Given the description of an element on the screen output the (x, y) to click on. 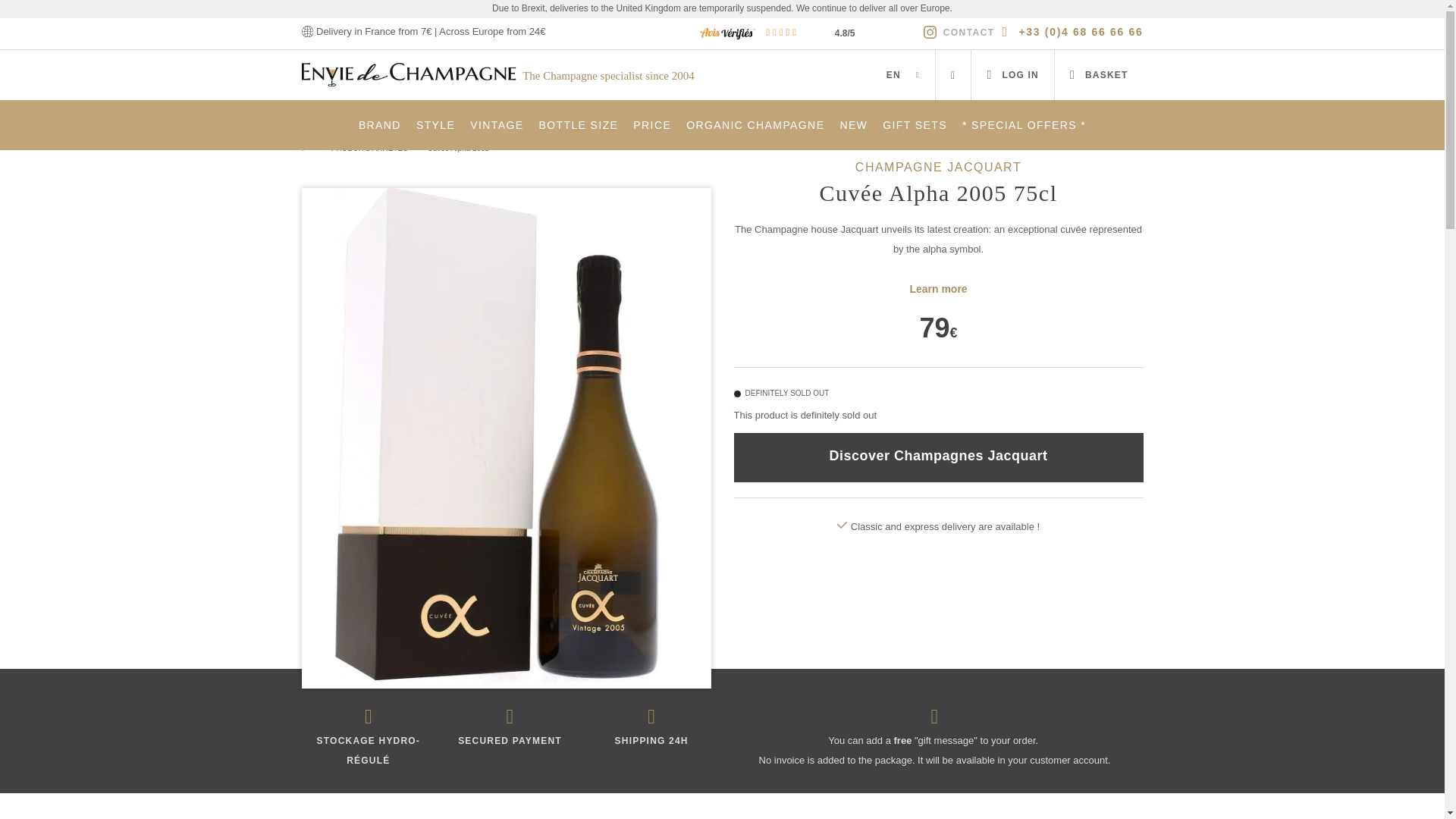
BASKET (1098, 74)
Brand (379, 124)
Envie de Champagne, Buy Champagne online at the best price! (410, 73)
CONTACT (968, 32)
BRAND (379, 124)
Follow us on Instagram (929, 31)
My account (1012, 74)
View my shopping cart (1098, 74)
LOG IN (1012, 74)
